Given the description of an element on the screen output the (x, y) to click on. 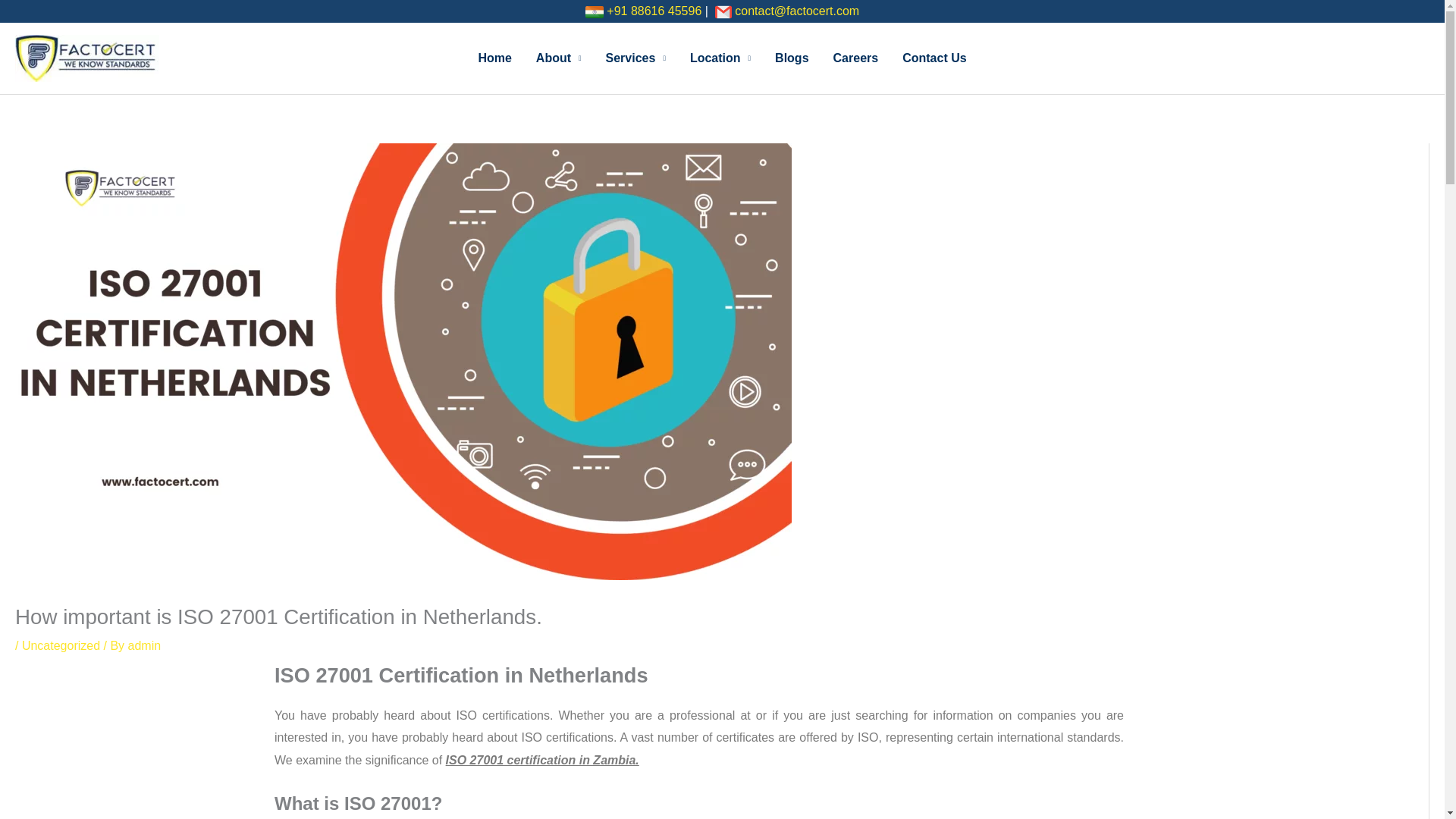
Home (493, 57)
About (559, 57)
View all posts by admin (144, 645)
Services (636, 57)
